Given the description of an element on the screen output the (x, y) to click on. 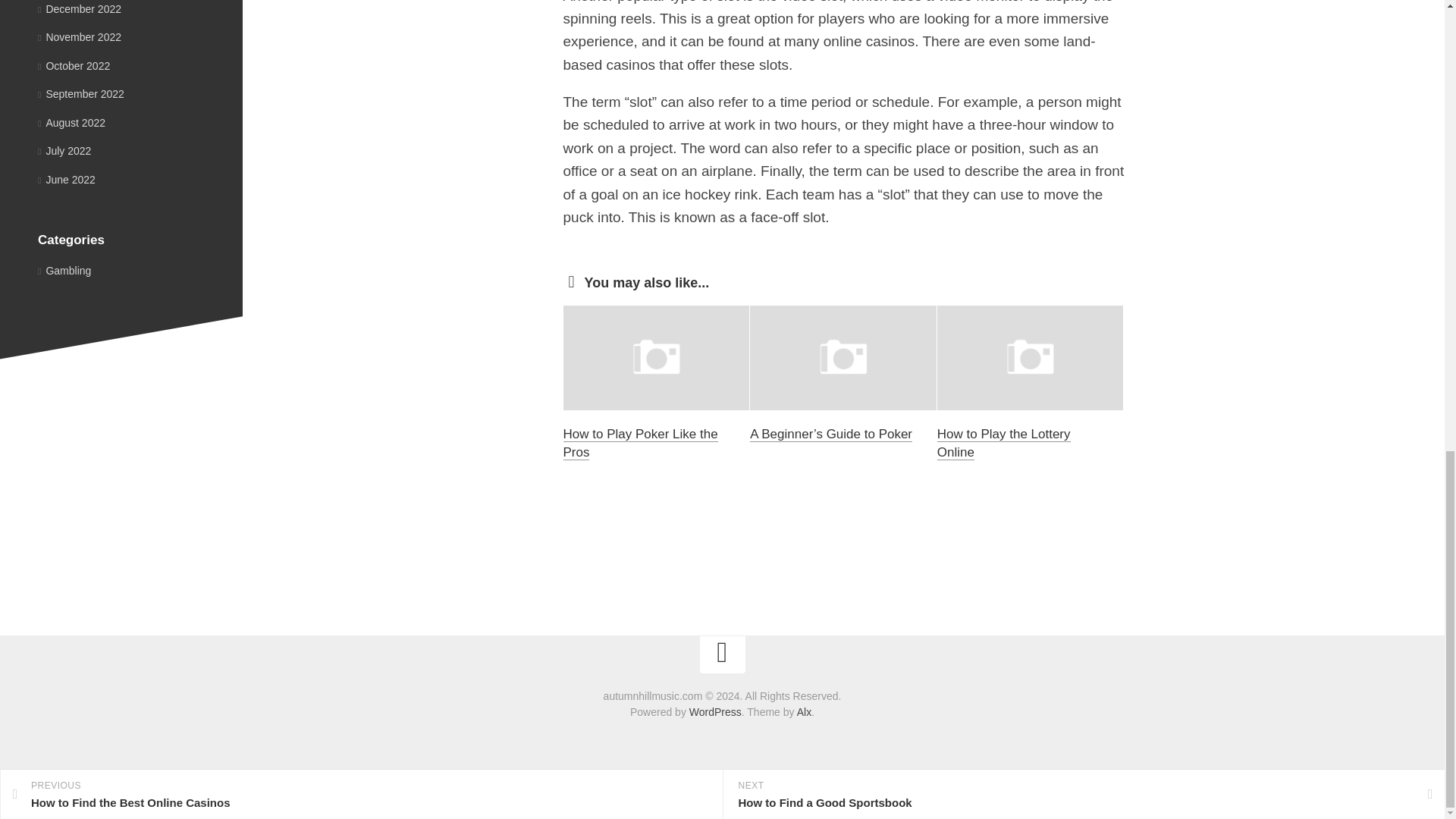
How to Play Poker Like the Pros (639, 442)
How to Play the Lottery Online (1003, 442)
September 2022 (80, 93)
December 2022 (78, 8)
November 2022 (78, 37)
October 2022 (73, 65)
